Given the description of an element on the screen output the (x, y) to click on. 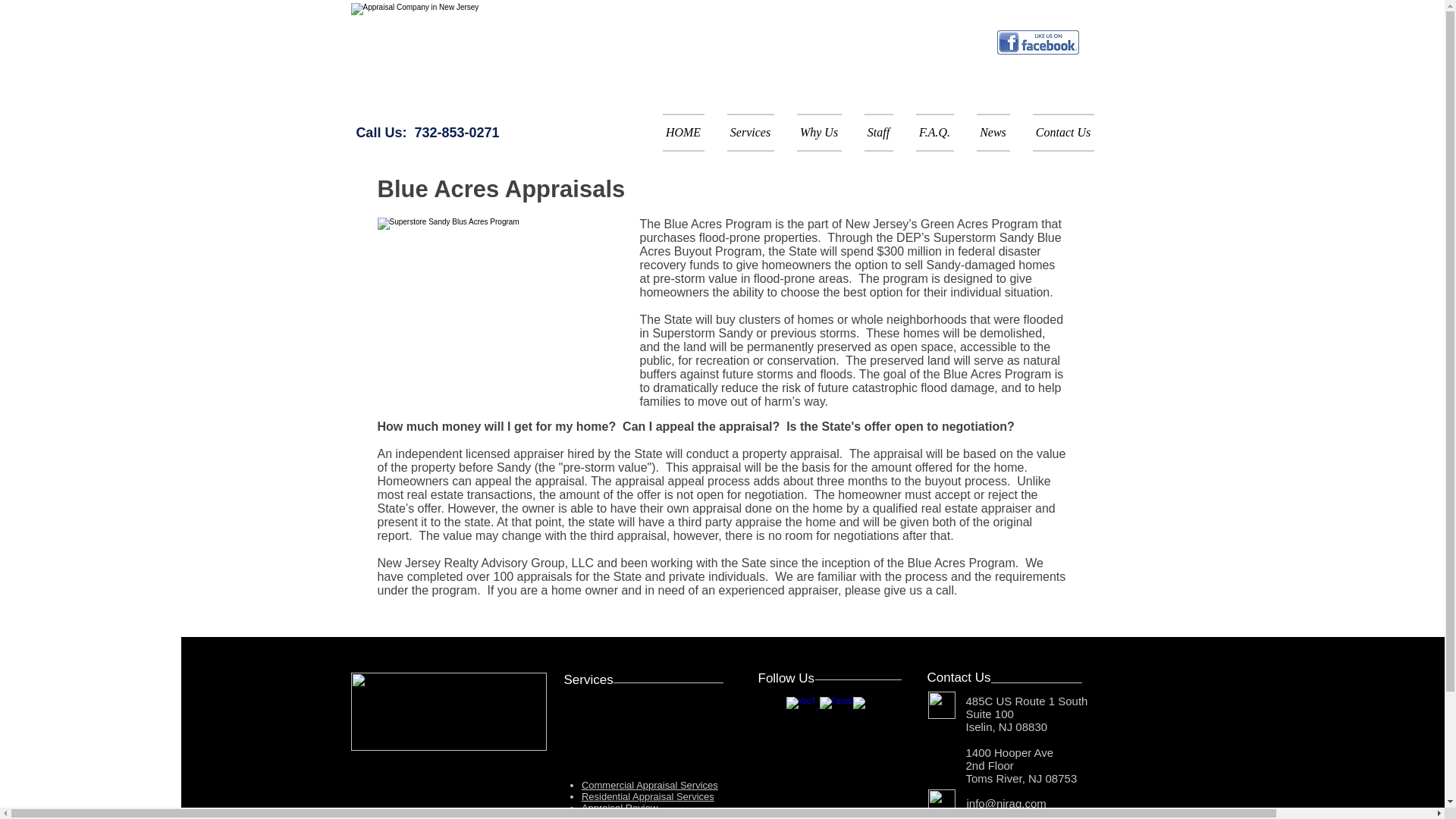
Affects of Superstorm Sandy (502, 303)
News (991, 132)
Why Us (819, 132)
Contact Us (1056, 132)
Commercial Appraisal Services (648, 785)
F.A.Q. (933, 132)
HOME (689, 132)
Residential Appraisal Services (647, 796)
Appraisal Review (619, 808)
Services (751, 132)
